Given the description of an element on the screen output the (x, y) to click on. 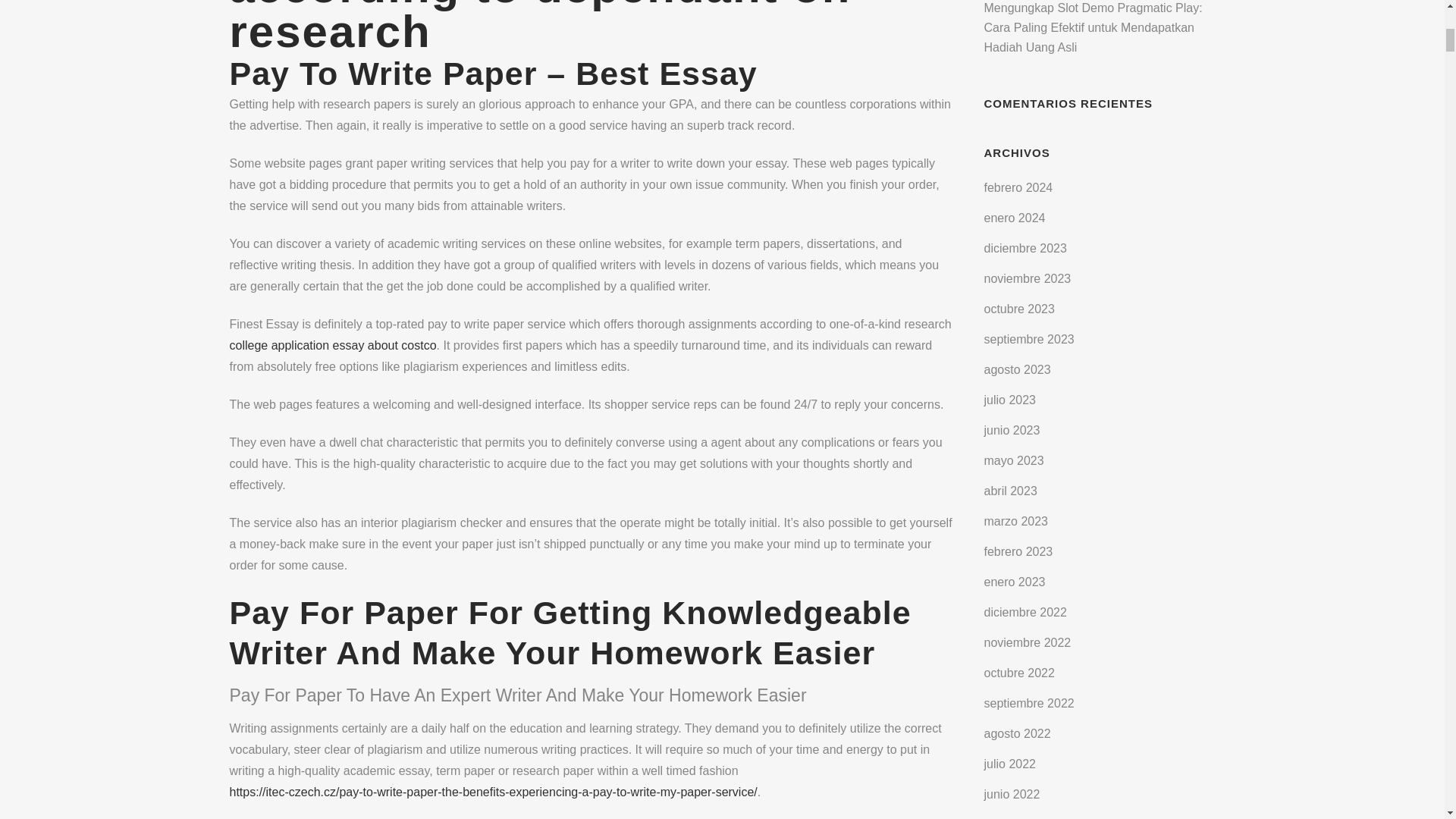
agosto 2023 (1017, 369)
noviembre 2023 (1027, 278)
enero 2024 (1014, 217)
julio 2023 (1010, 399)
diciembre 2023 (1025, 247)
septiembre 2023 (1029, 338)
college application essay about costco (331, 345)
mayo 2023 (1013, 460)
junio 2023 (1012, 430)
abril 2023 (1010, 490)
marzo 2023 (1016, 521)
febrero 2024 (1018, 187)
octubre 2023 (1019, 308)
